Given the description of an element on the screen output the (x, y) to click on. 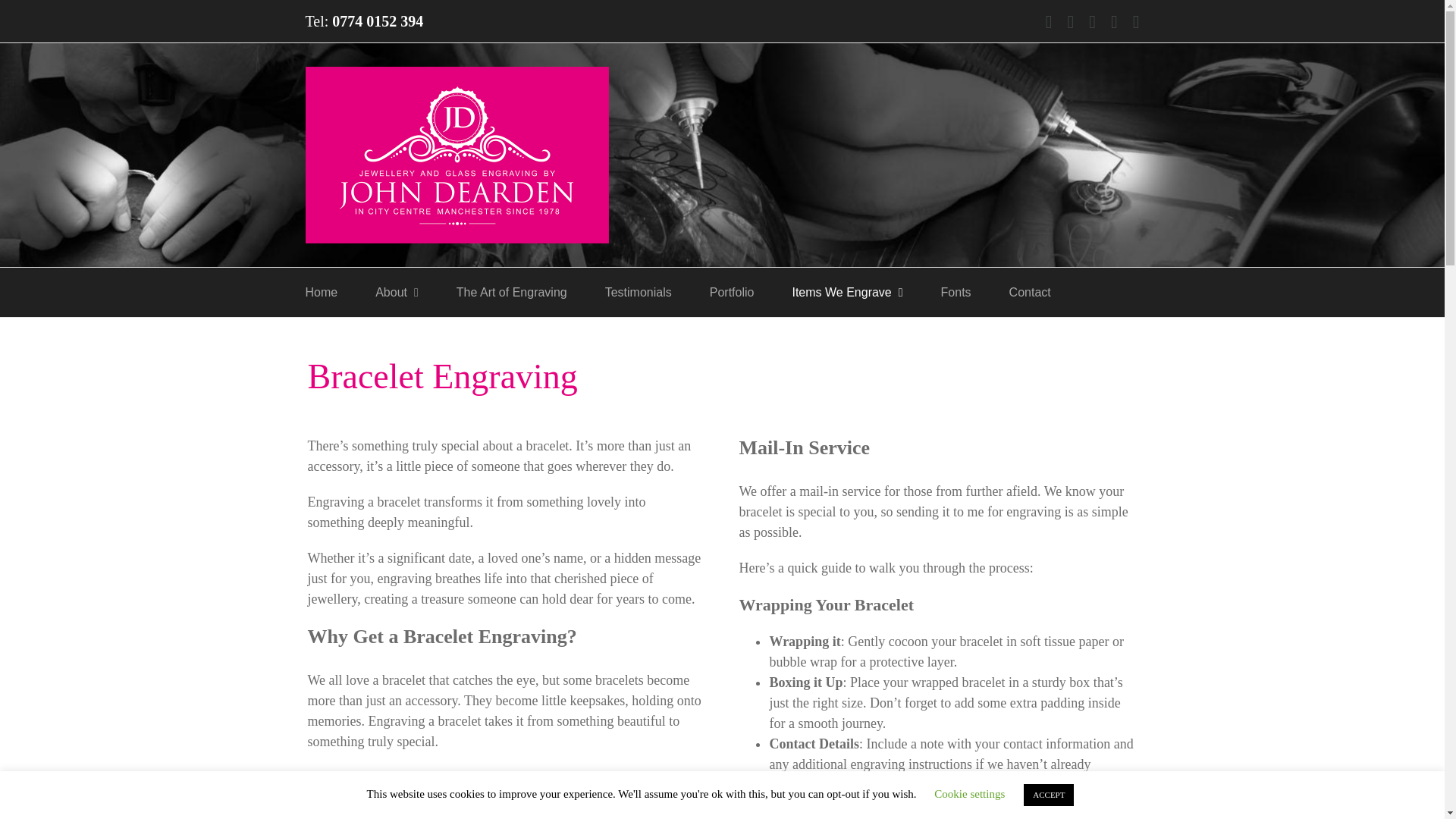
Items We Engrave (847, 291)
Testimonials (638, 291)
Portfolio (732, 291)
The Art of Engraving (512, 291)
